Given the description of an element on the screen output the (x, y) to click on. 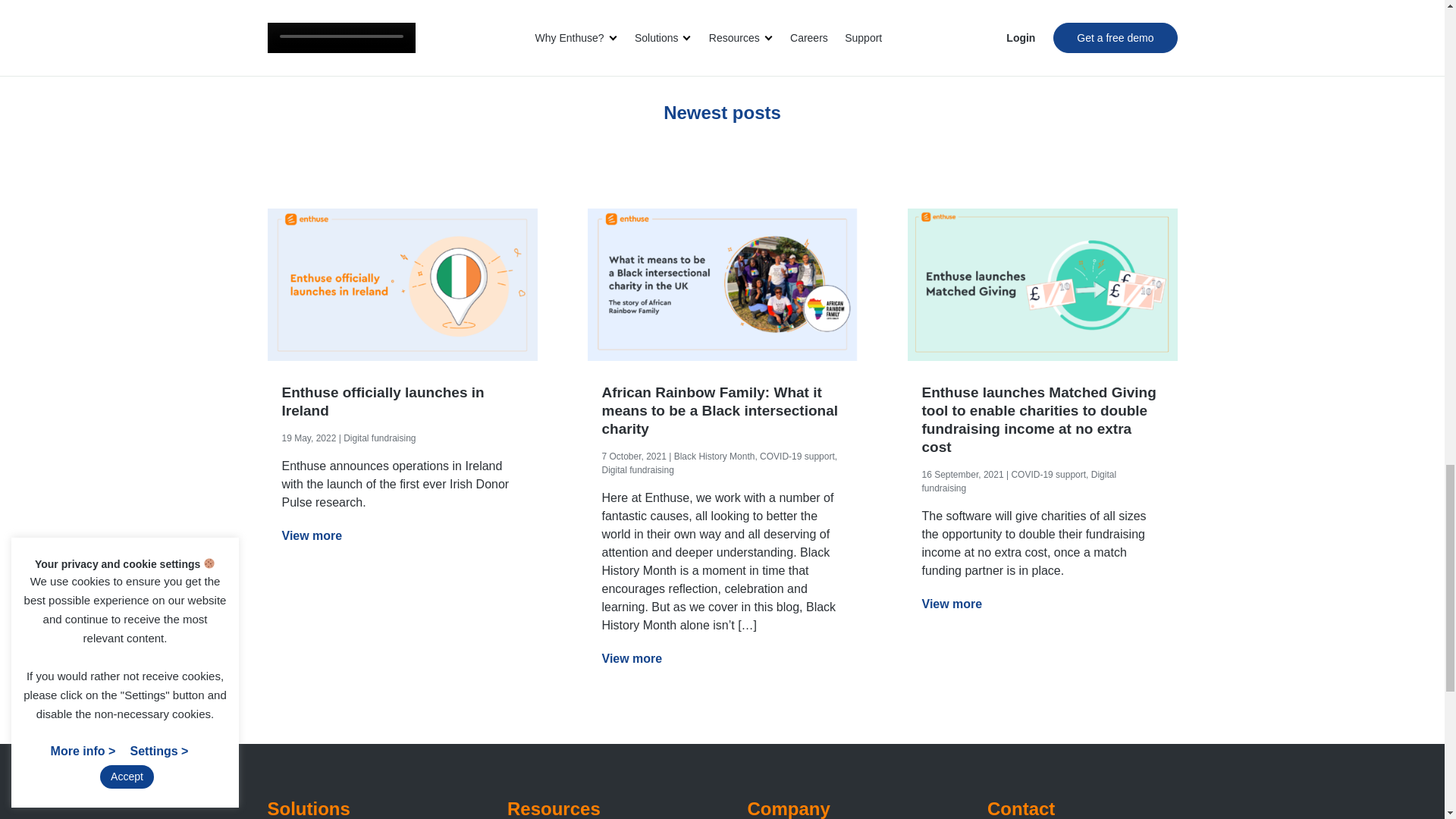
View more (312, 535)
Enthuse officially launches in Ireland (402, 402)
Digital fundraising (378, 438)
